Given the description of an element on the screen output the (x, y) to click on. 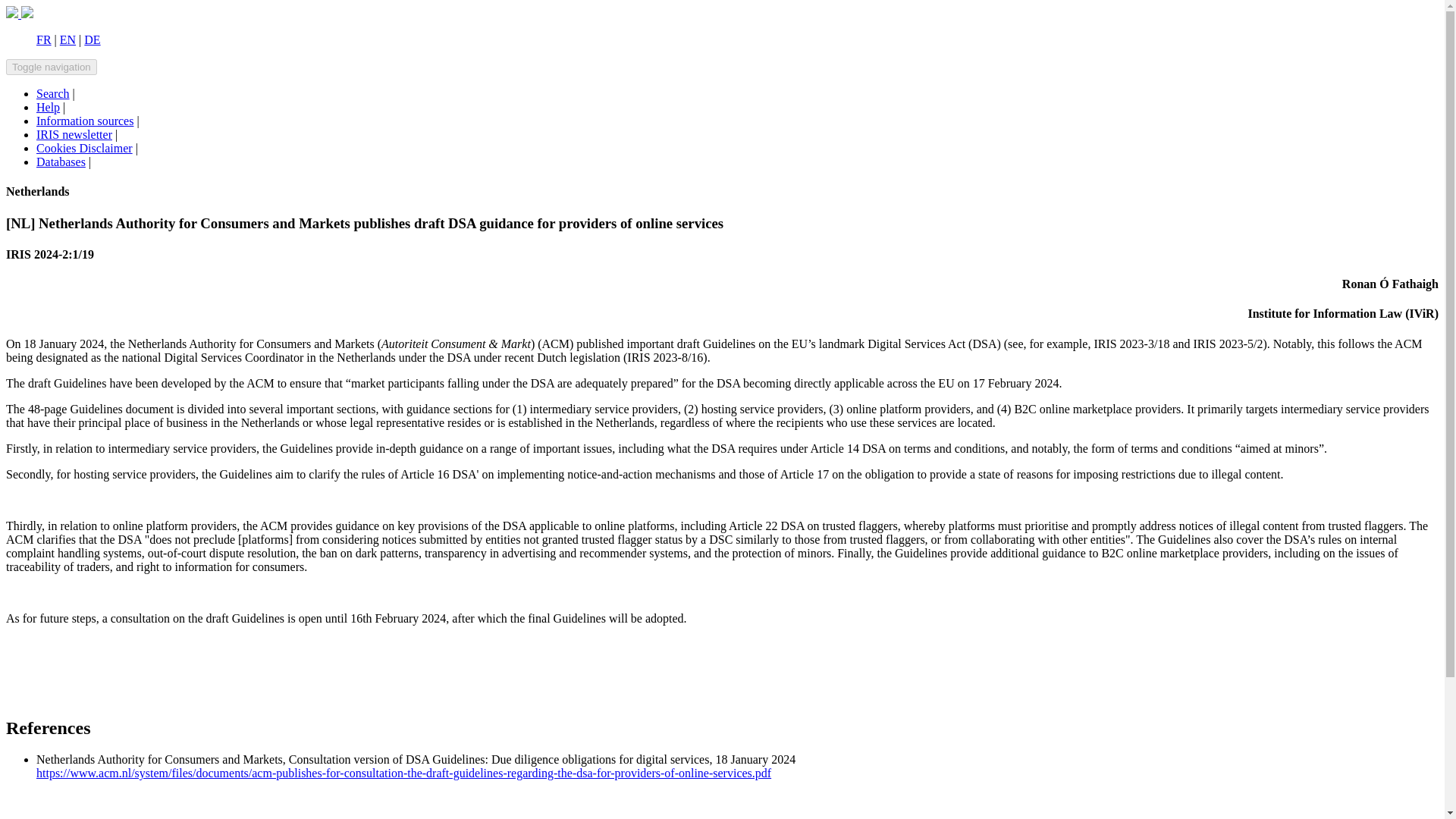
Help (47, 106)
IRIS newsletter (74, 133)
Information sources (84, 120)
FR (43, 39)
EN (67, 39)
Toggle navigation (51, 66)
Search (52, 92)
DE (92, 39)
Cookies Disclaimer (84, 147)
Databases (60, 161)
